Given the description of an element on the screen output the (x, y) to click on. 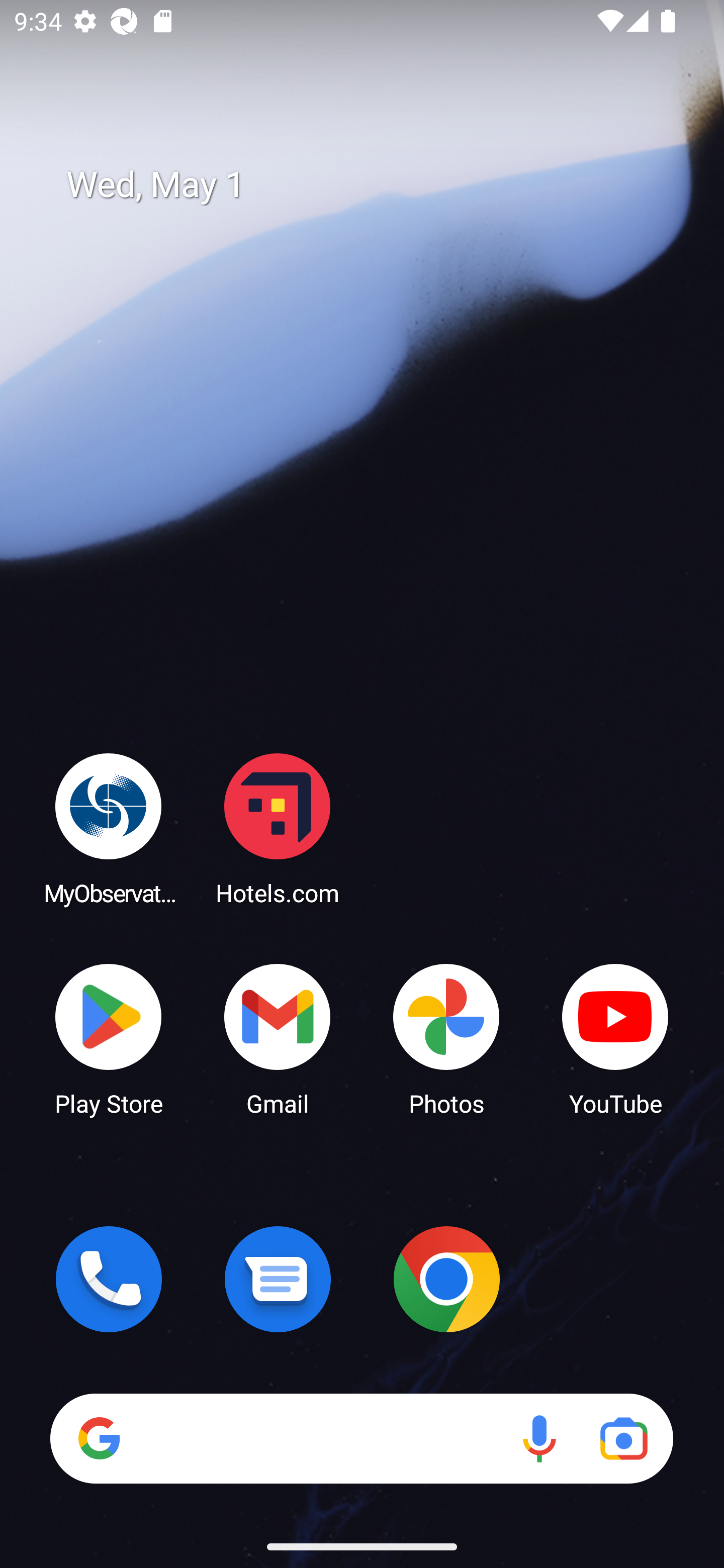
Wed, May 1 (375, 184)
MyObservatory (108, 828)
Hotels.com (277, 828)
Play Store (108, 1038)
Gmail (277, 1038)
Photos (445, 1038)
YouTube (615, 1038)
Phone (108, 1279)
Messages (277, 1279)
Chrome (446, 1279)
Search Voice search Google Lens (361, 1438)
Voice search (539, 1438)
Google Lens (623, 1438)
